Given the description of an element on the screen output the (x, y) to click on. 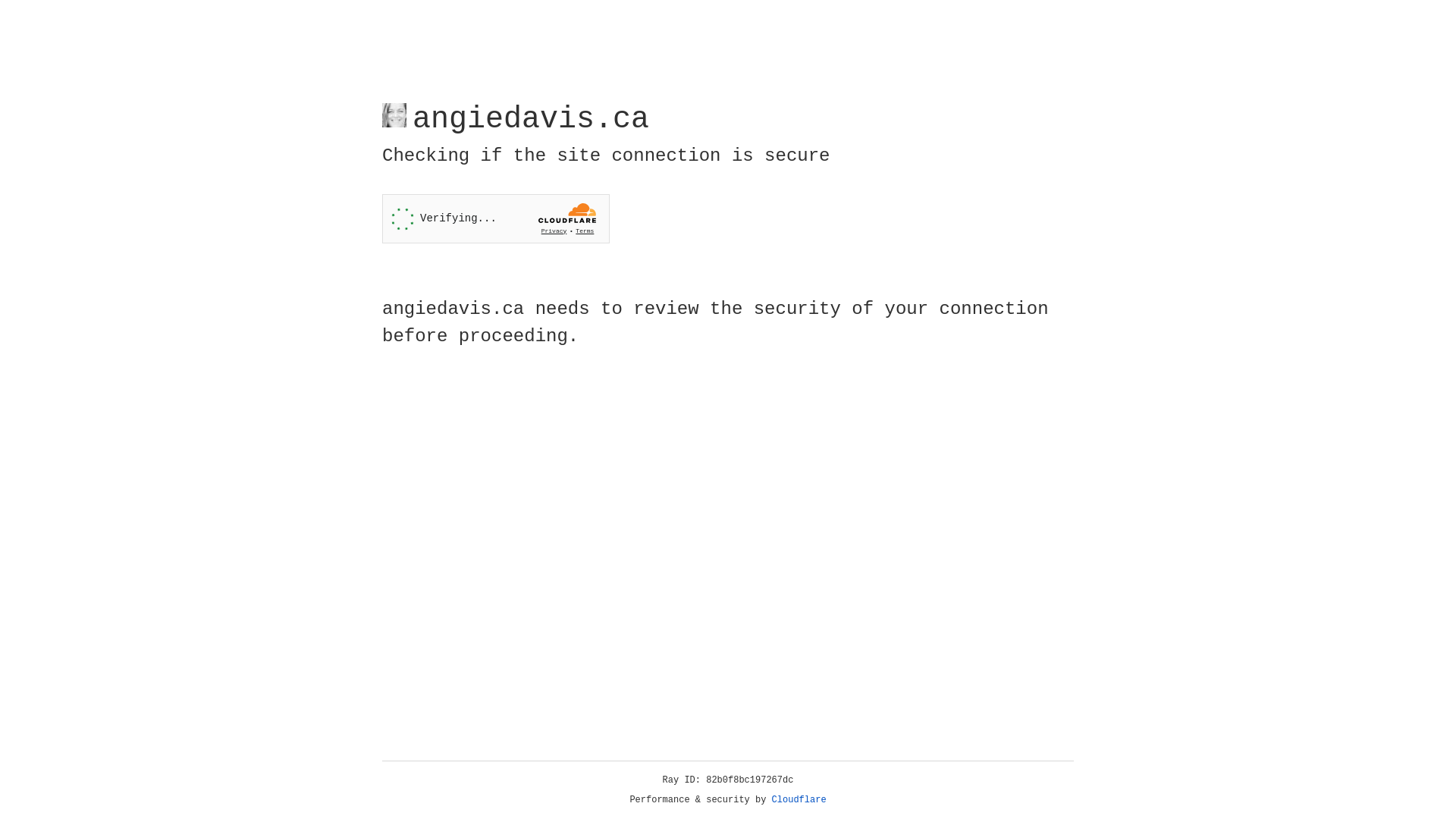
Cloudflare Element type: text (798, 799)
Widget containing a Cloudflare security challenge Element type: hover (495, 218)
